Given the description of an element on the screen output the (x, y) to click on. 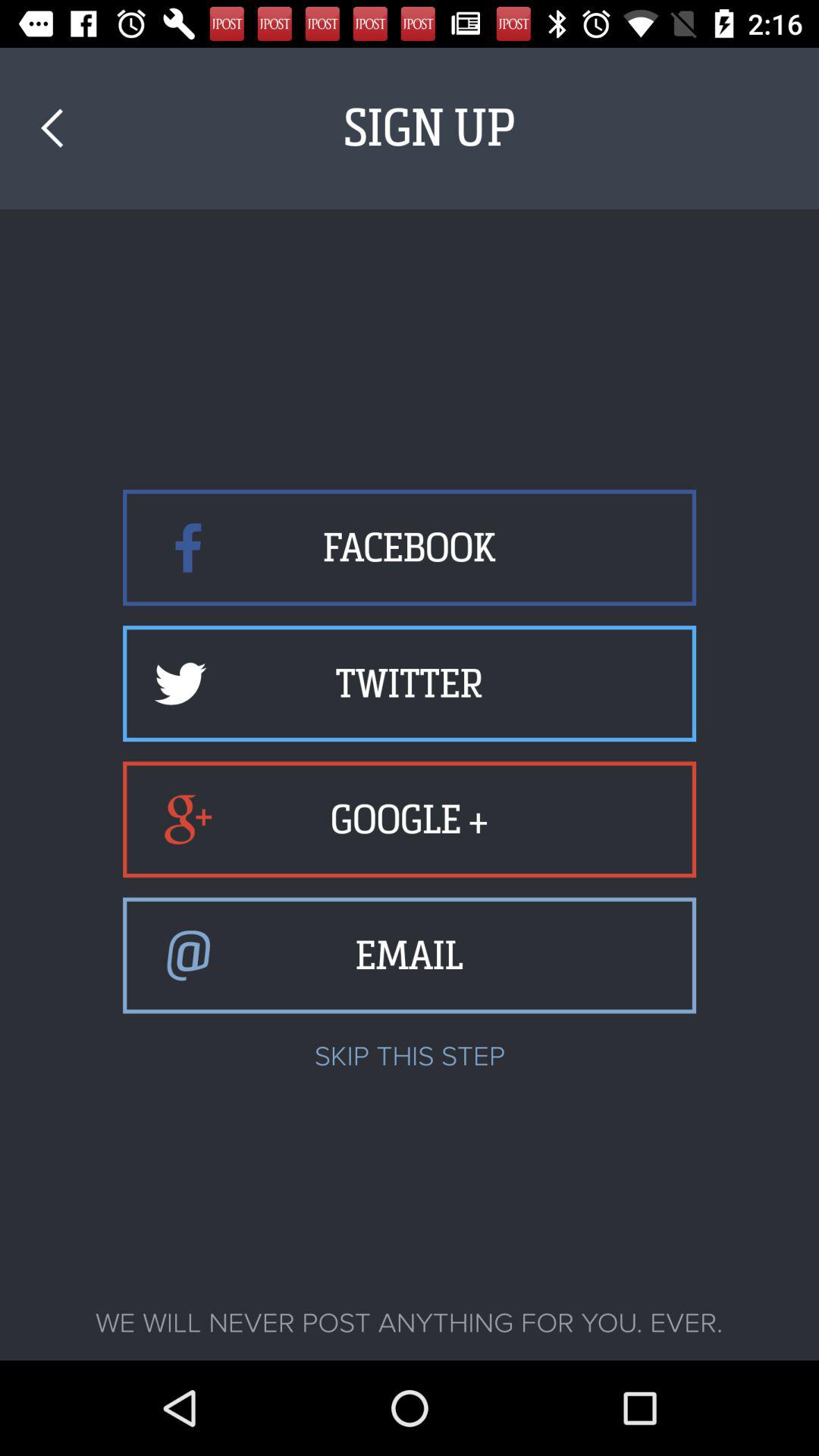
select the skip this step (409, 1056)
